Given the description of an element on the screen output the (x, y) to click on. 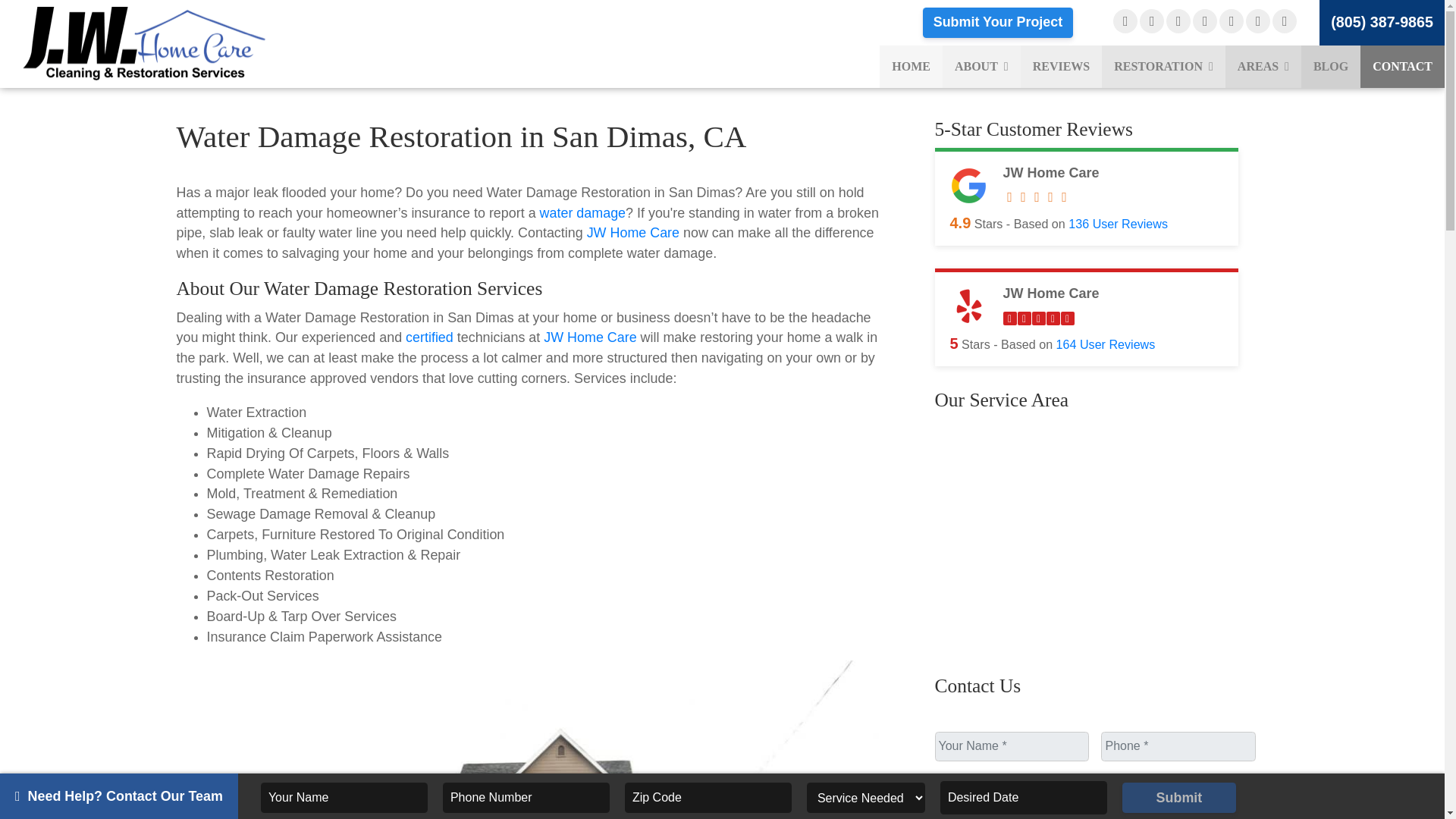
AREAS (1263, 66)
Pinterest (1284, 21)
Twitter (1204, 21)
Submit (1179, 797)
User Reviews (1117, 223)
LinkedIn (1257, 21)
RESTORATION (1163, 66)
ABOUT (981, 66)
Yelp (1178, 21)
Facebook (1125, 21)
Instagram (1231, 21)
REVIEWS (1061, 66)
JW Home Care (174, 43)
User Reviews (1106, 344)
HOME (910, 66)
